Given the description of an element on the screen output the (x, y) to click on. 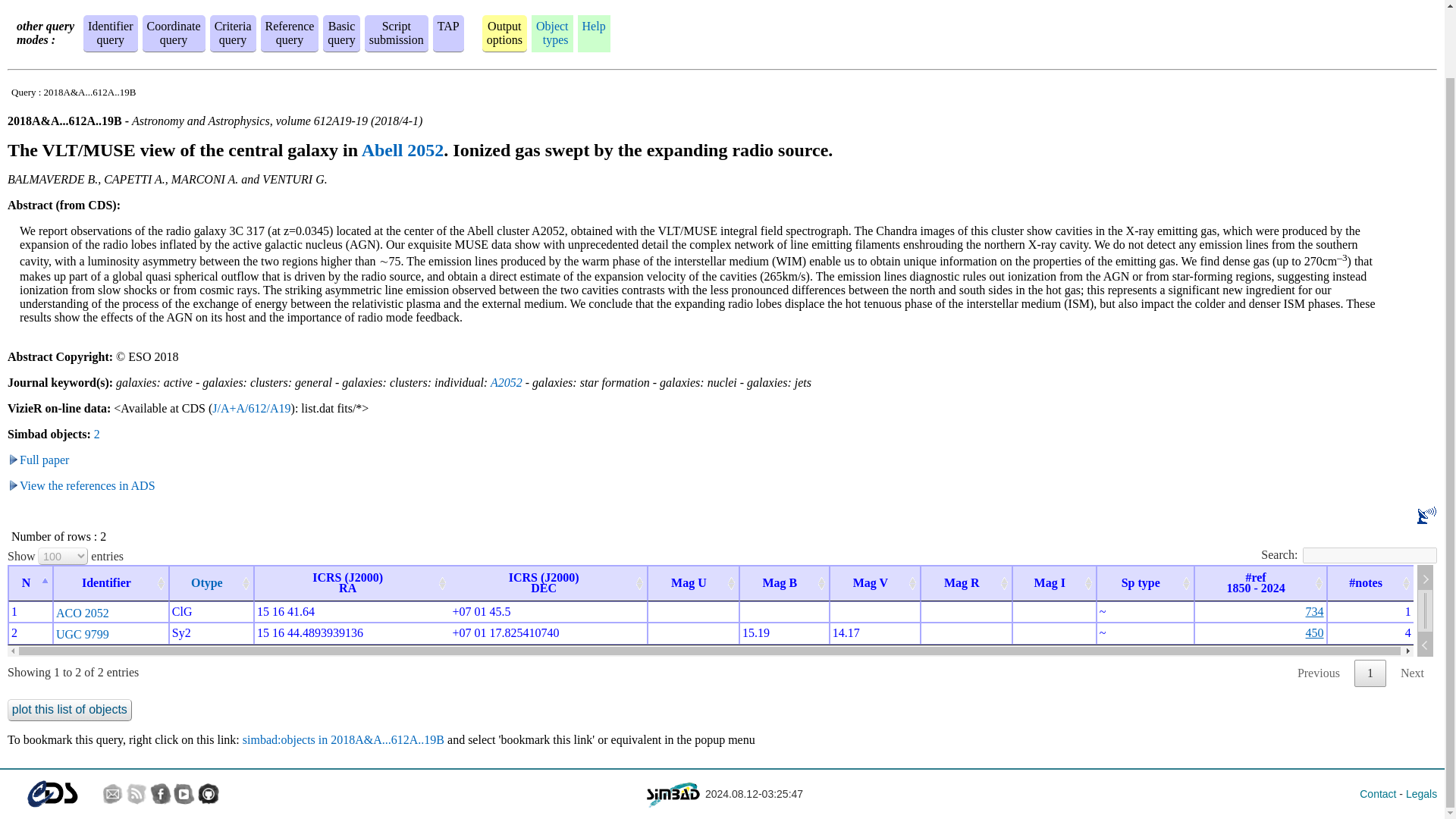
Submit a list of queries, and customize the output (396, 32)
1 (173, 32)
Previous (1370, 673)
450 (1318, 673)
Query by filters on magnitude, velocity ... (1314, 632)
Next (232, 32)
Abell 2052 (289, 32)
